Given the description of an element on the screen output the (x, y) to click on. 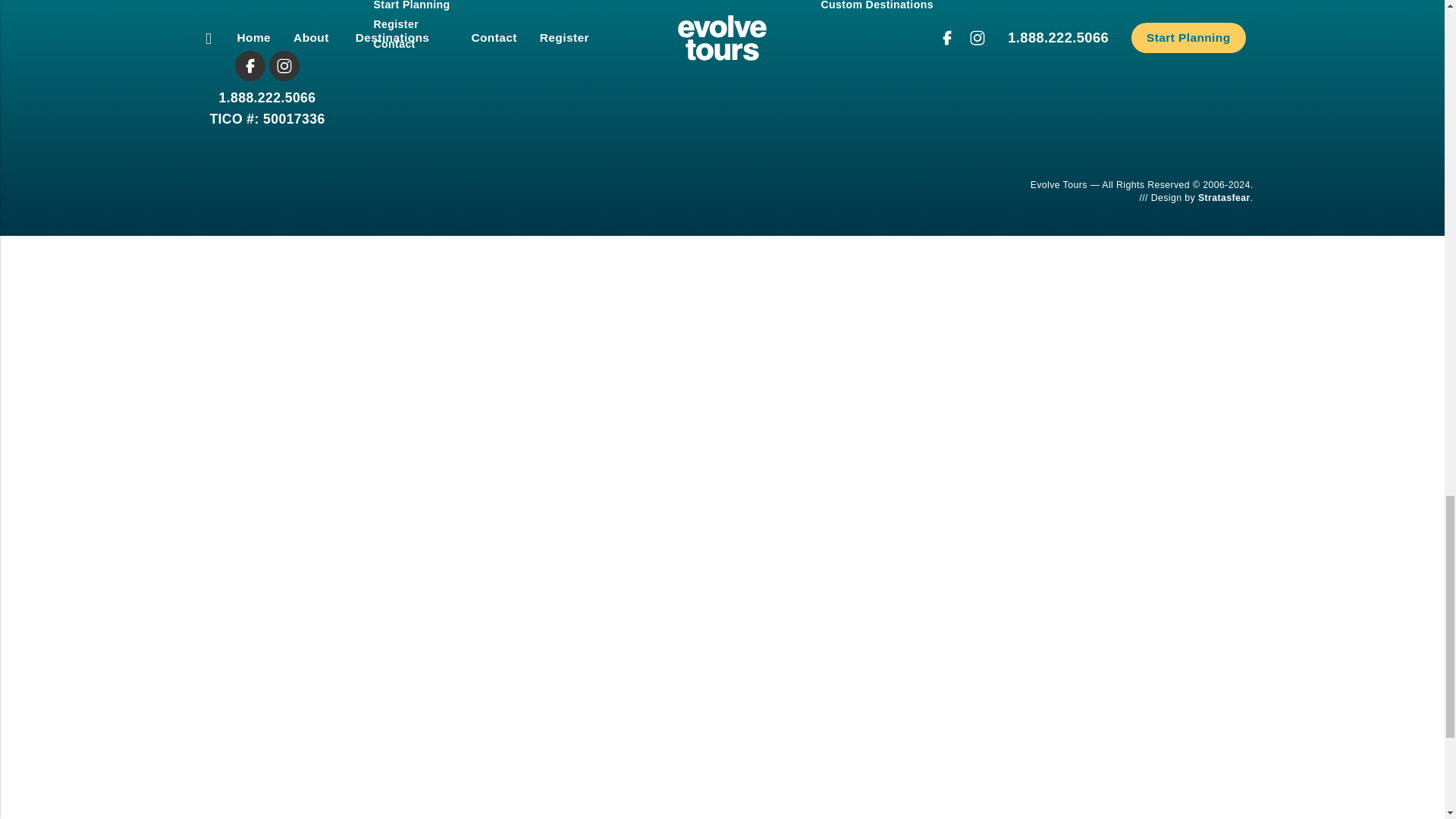
1.888.222.5066 (267, 97)
